Given the description of an element on the screen output the (x, y) to click on. 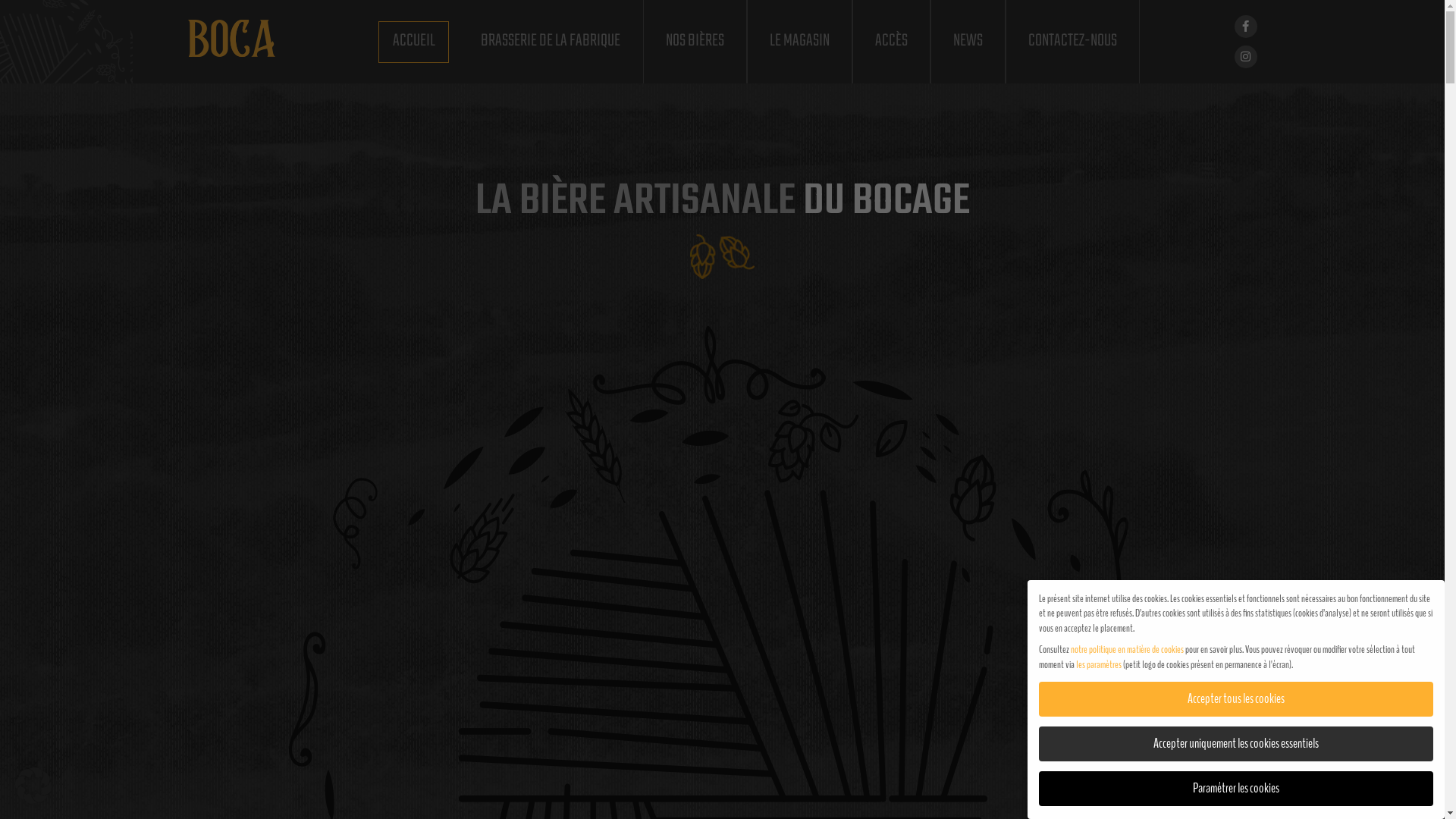
CONTACTEZ-NOUS Element type: text (1072, 41)
ACCUEIL Element type: text (414, 41)
LE MAGASIN Element type: text (798, 41)
Accepter tous les cookies Element type: text (1235, 698)
Accepter uniquement les cookies essentiels Element type: text (1235, 743)
BRASSERIE DE LA FABRIQUE Element type: text (550, 41)
NEWS Element type: text (966, 41)
